Given the description of an element on the screen output the (x, y) to click on. 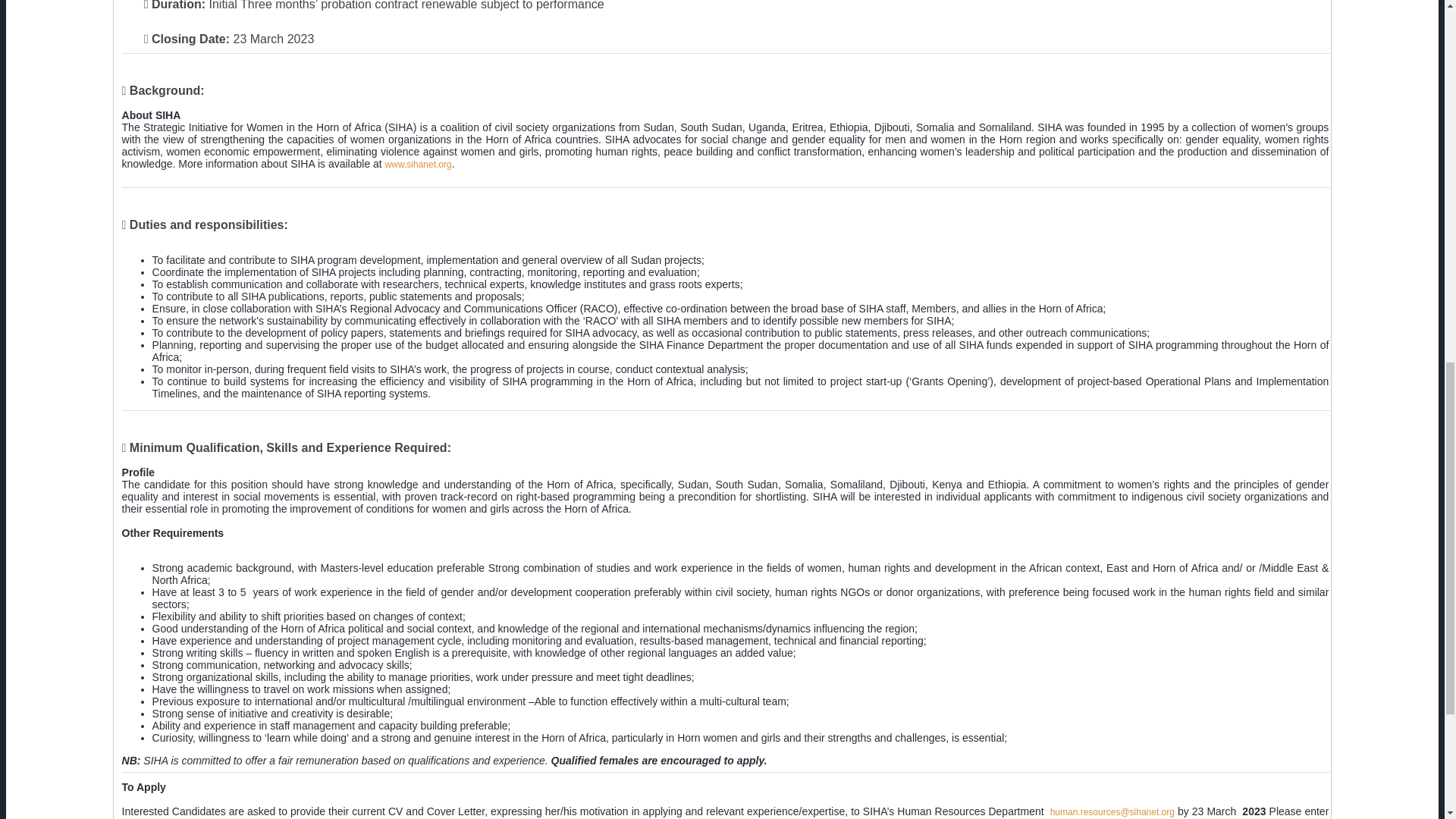
www.sihanet.org (418, 163)
